Given the description of an element on the screen output the (x, y) to click on. 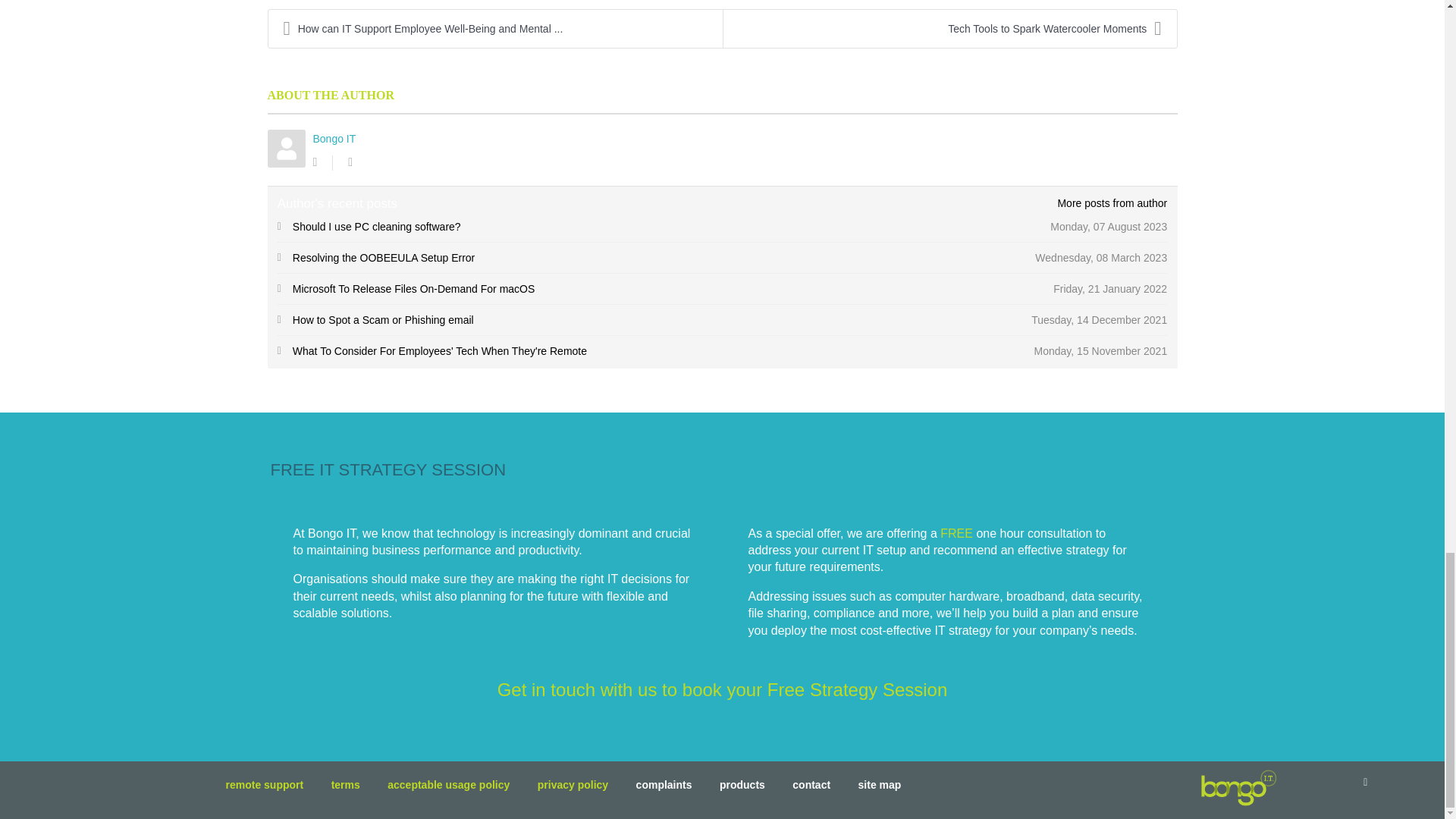
products (742, 788)
remote support (264, 788)
site map (880, 788)
terms (345, 788)
acceptable usage policy (448, 788)
contact (722, 689)
contact (810, 788)
complaints (664, 788)
Back to top (1365, 781)
privacy policy (572, 788)
